Given the description of an element on the screen output the (x, y) to click on. 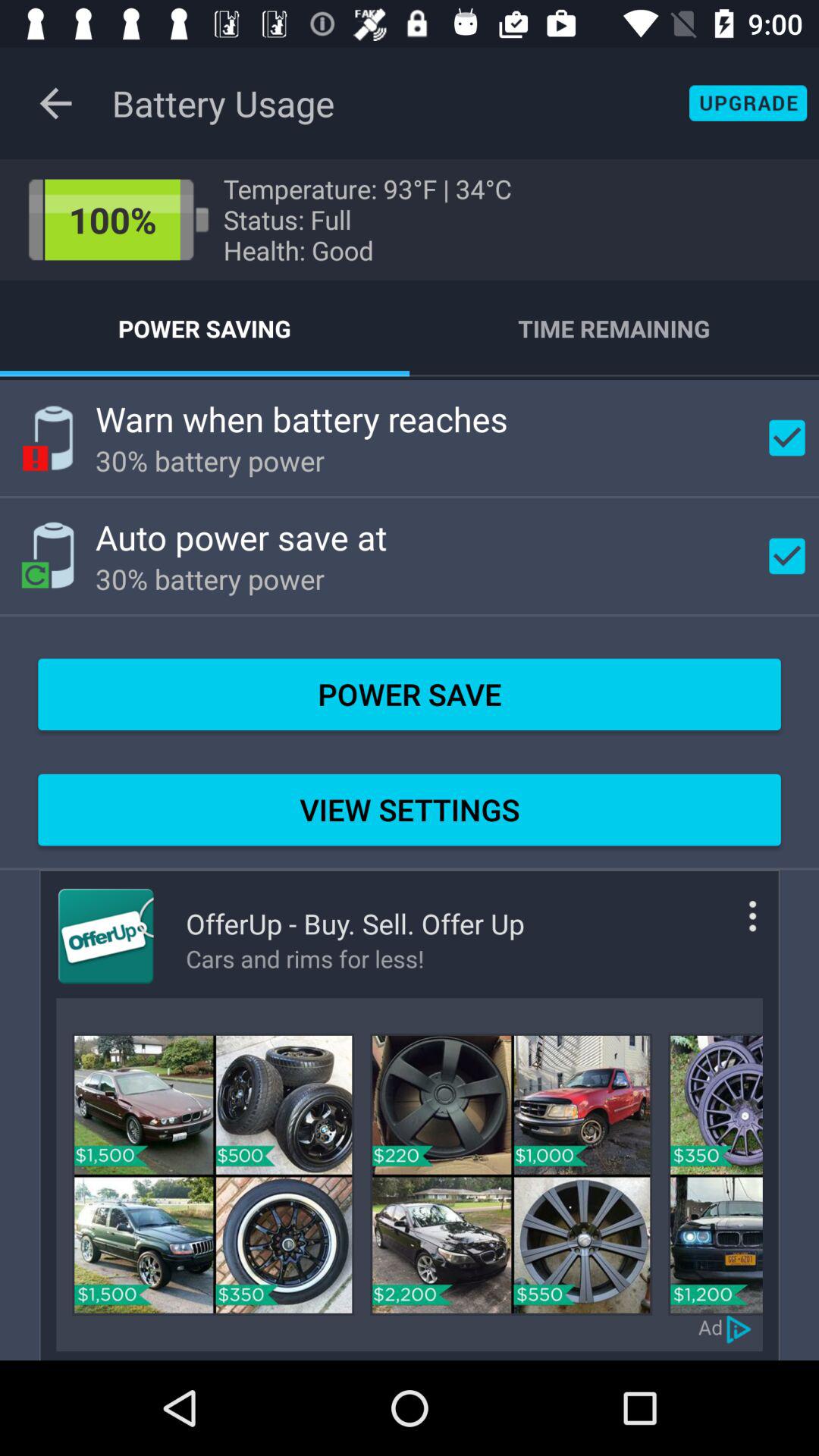
turn on item below offerup buy sell (354, 958)
